Given the description of an element on the screen output the (x, y) to click on. 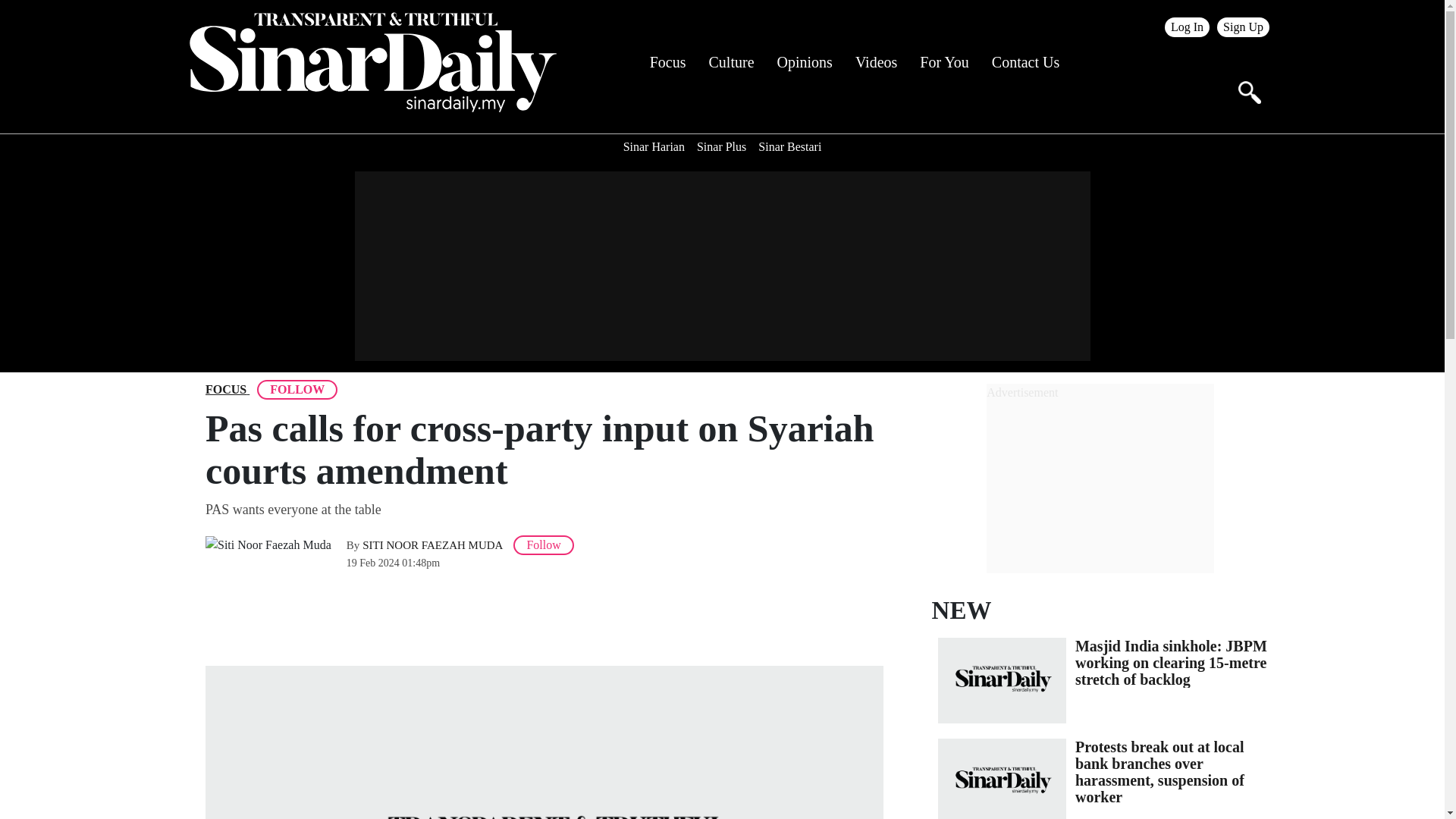
Sinar Plus (721, 146)
Share Article on Whatsapp (264, 616)
For You (944, 62)
Sinar Bestari (789, 146)
Videos (876, 62)
signup (1243, 26)
Share on Twitter (305, 616)
Focus (667, 62)
Opinions (804, 62)
Log In (1186, 26)
